Given the description of an element on the screen output the (x, y) to click on. 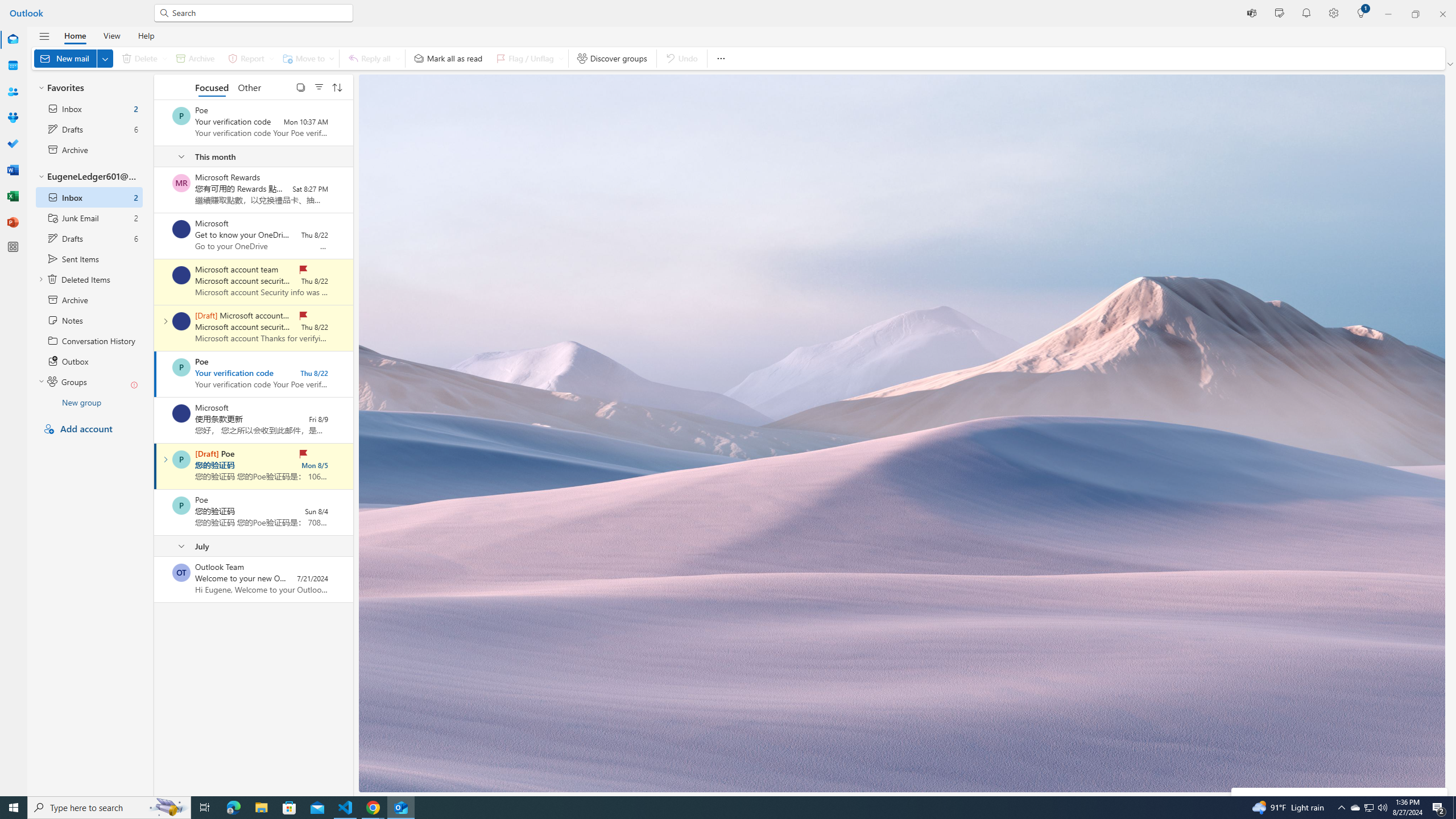
Undo (681, 58)
Expand to see more New options (104, 58)
Outlook Team (180, 572)
Discover groups (611, 58)
More apps (12, 246)
PowerPoint (12, 222)
Mail (12, 39)
